Given the description of an element on the screen output the (x, y) to click on. 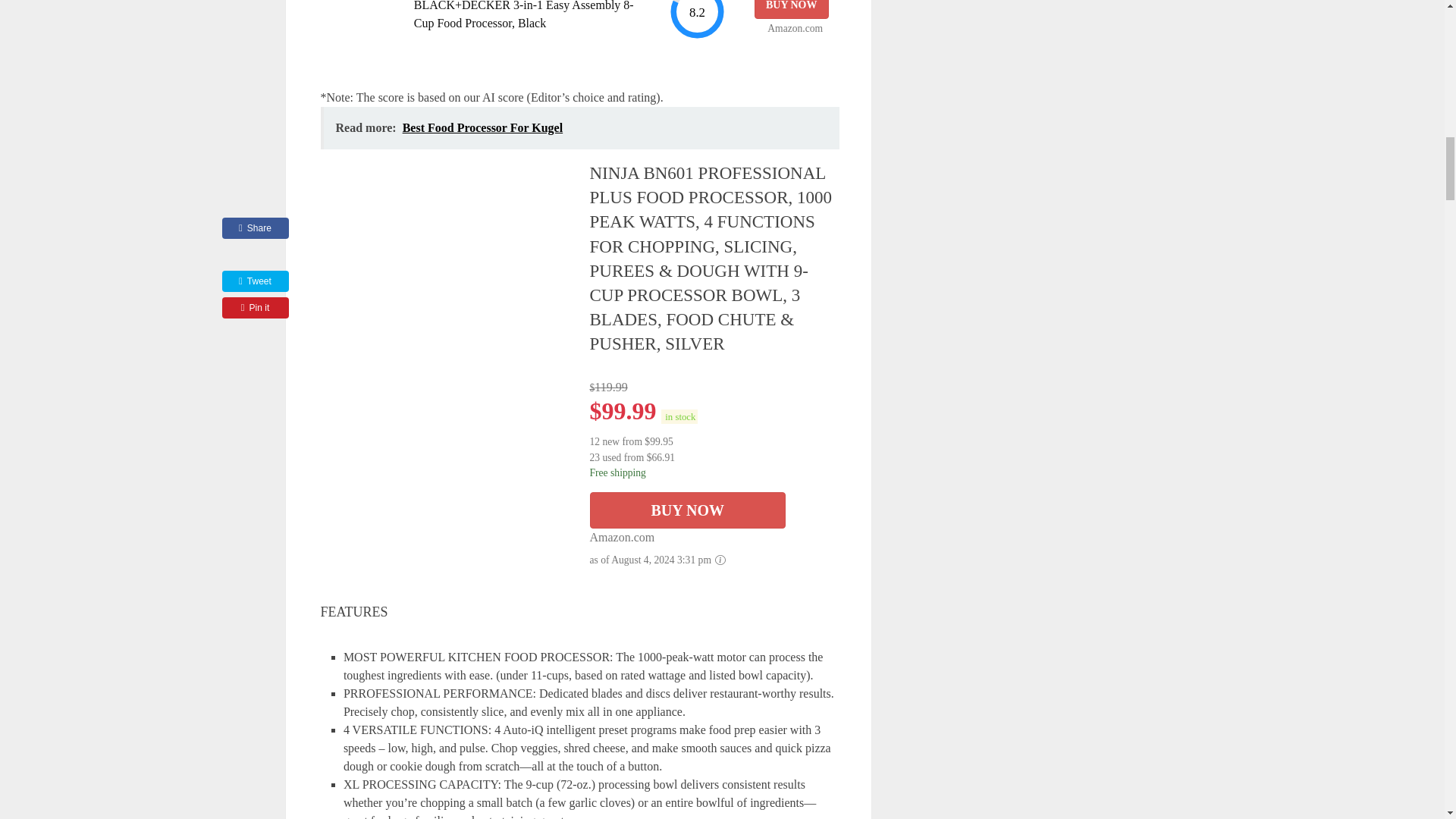
8.2 (696, 20)
Last updated on August 4, 2024 3:31 pm (679, 416)
